Given the description of an element on the screen output the (x, y) to click on. 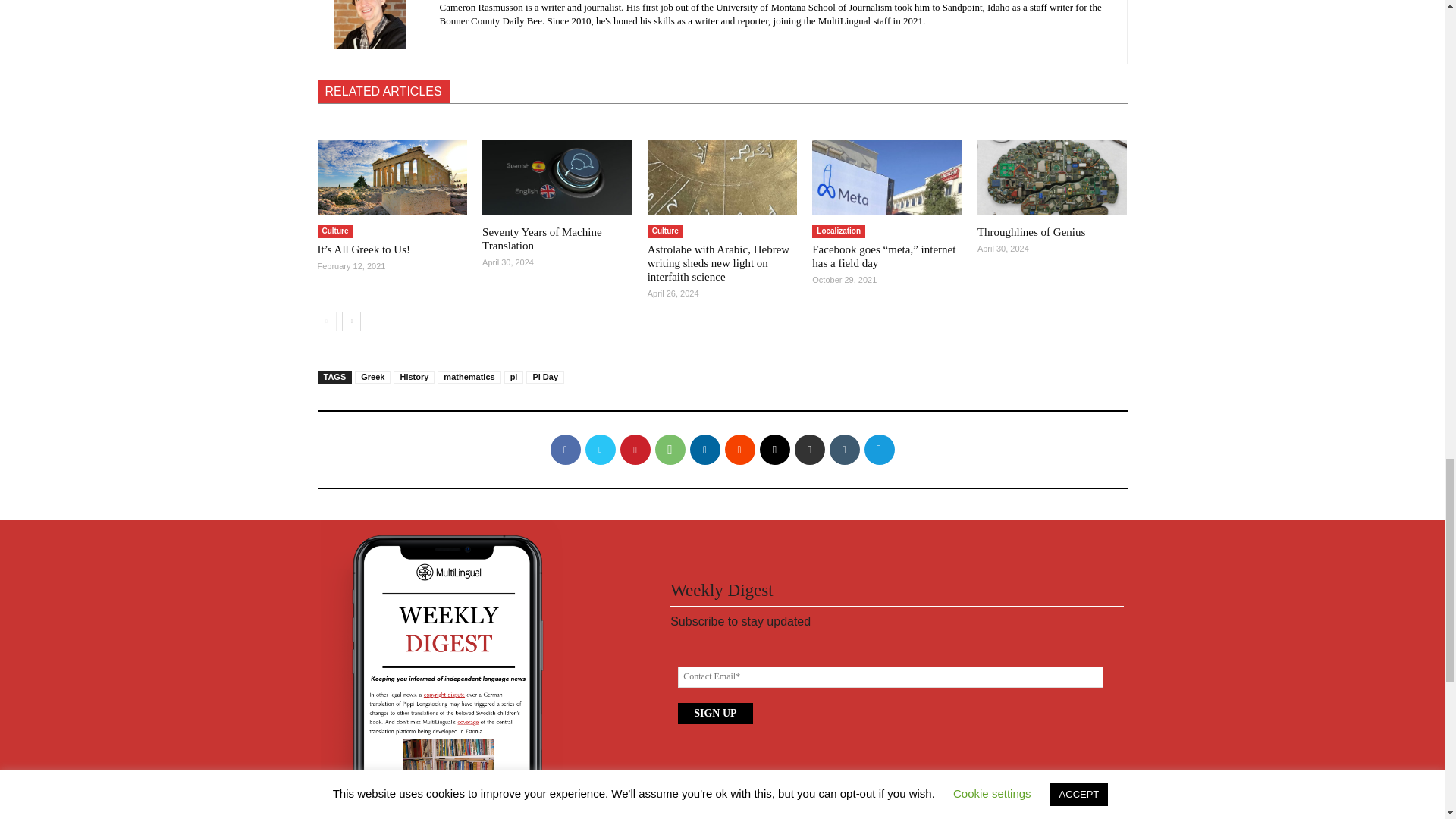
SIGN UP (715, 712)
